Given the description of an element on the screen output the (x, y) to click on. 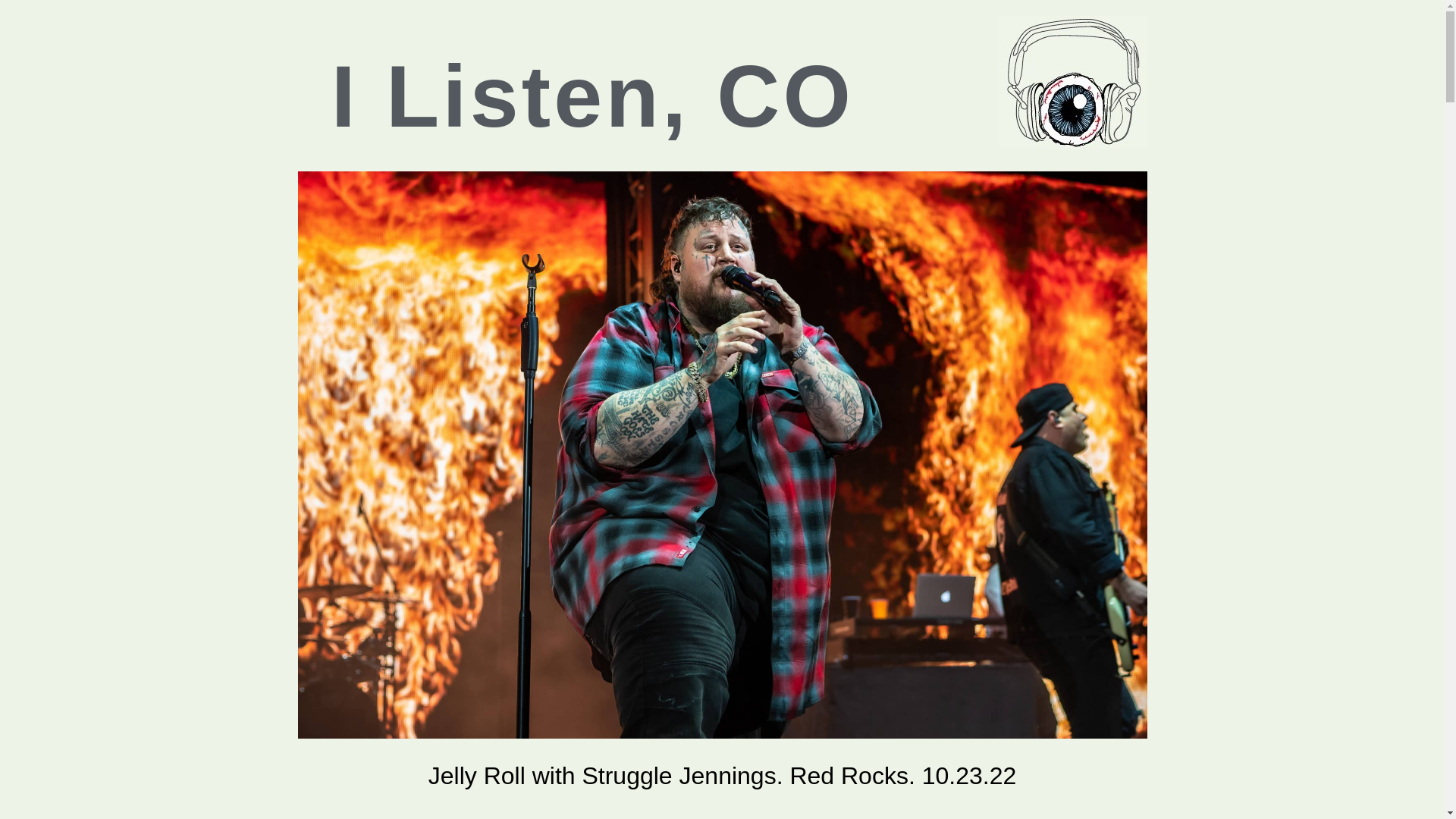
I Listen, CO (592, 95)
